Given the description of an element on the screen output the (x, y) to click on. 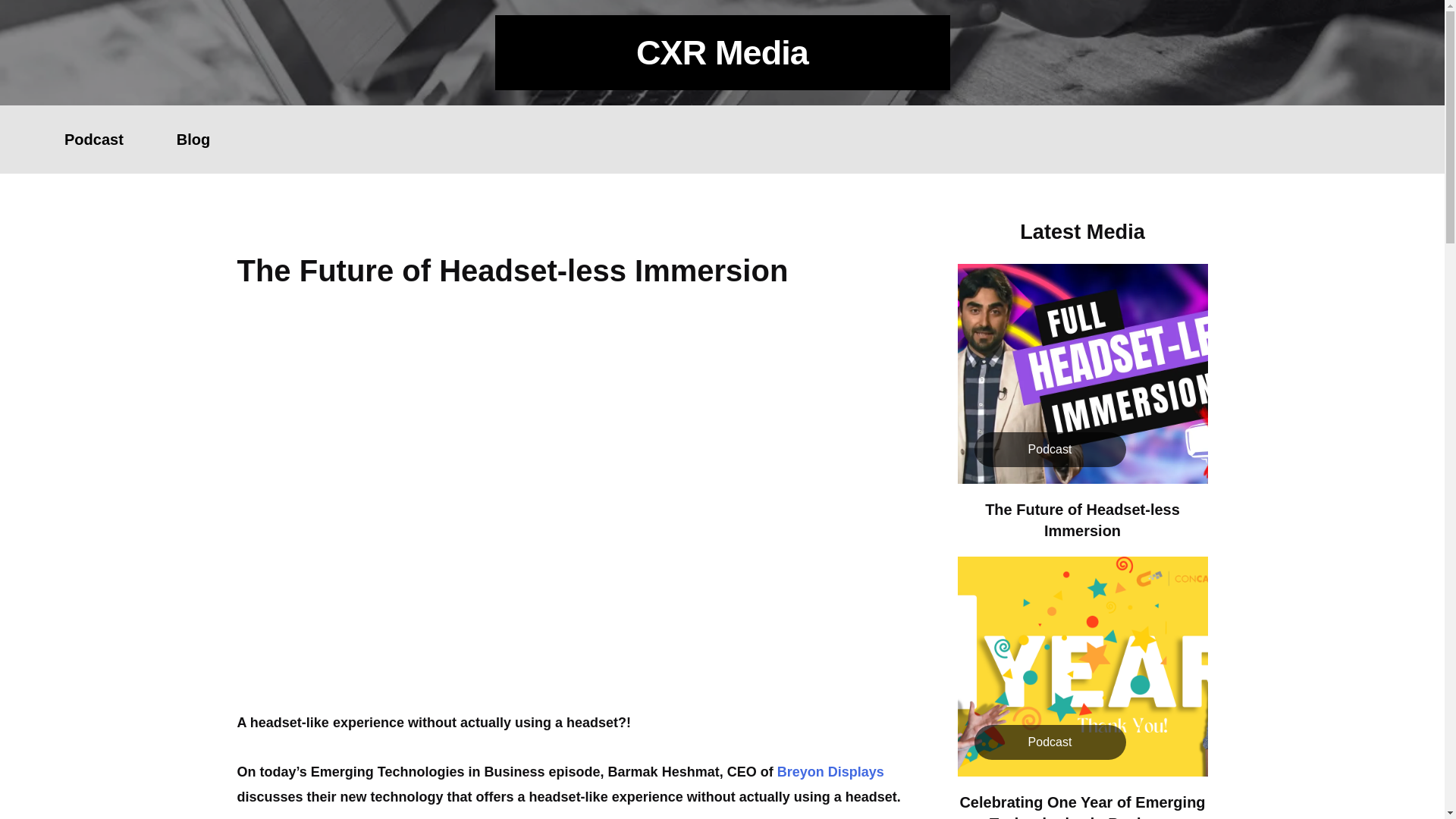
Breyon Displays (830, 771)
Podcast (93, 139)
Blog (192, 139)
Podcast (1049, 449)
The Future of Headset-less Immersion (1082, 519)
Celebrating One Year of Emerging Technologies in Business (1082, 806)
Podcast (1049, 741)
